Given the description of an element on the screen output the (x, y) to click on. 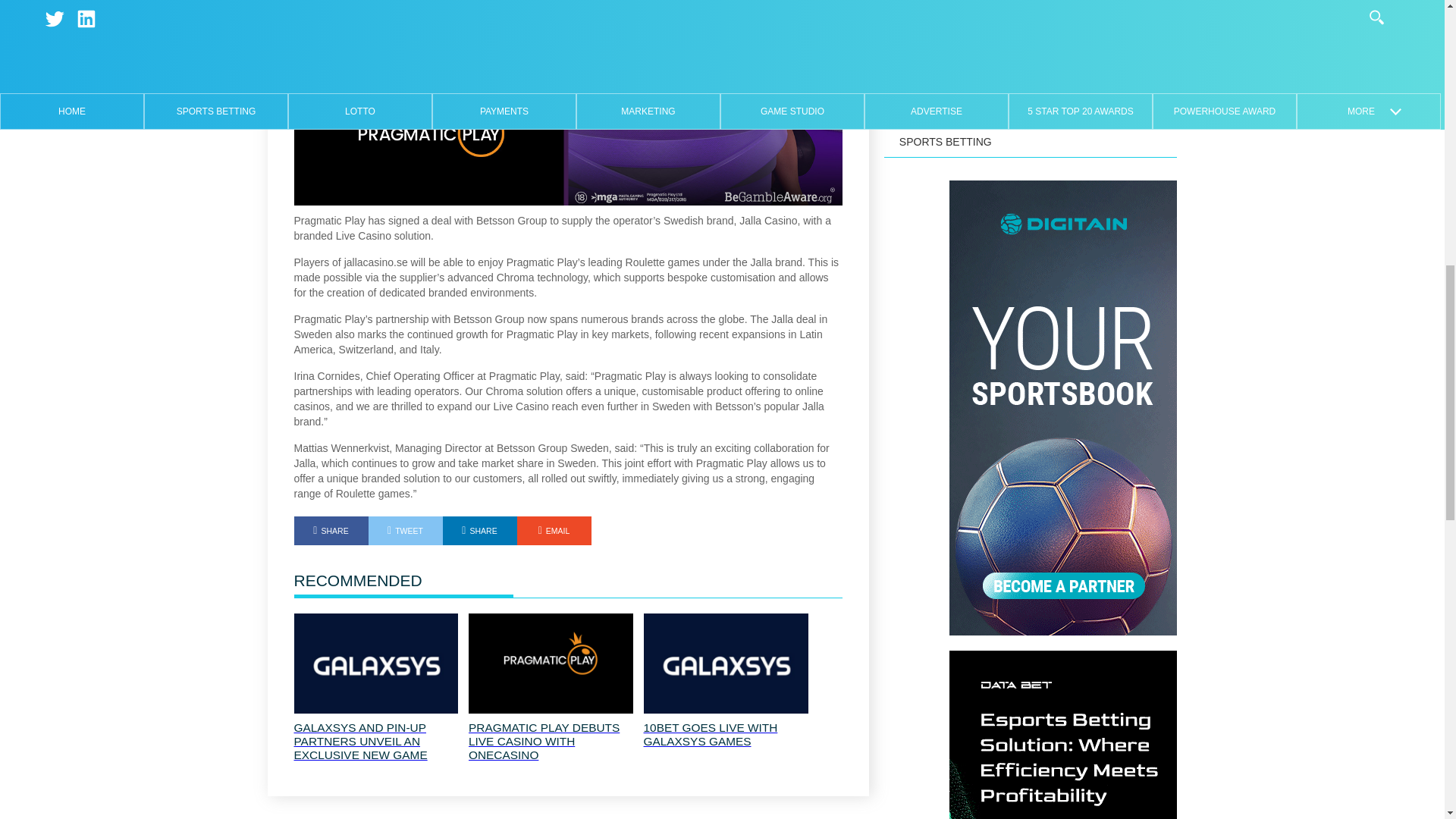
TWEET (405, 530)
GALAXSYS AND PIN-UP PARTNERS UNVEIL AN EXCLUSIVE NEW GAME (376, 741)
PRAGMATIC PLAY DEBUTS LIVE CASINO WITH ONECASINO (550, 741)
SHARE (331, 530)
10BET GOES LIVE WITH GALAXSYS GAMES (725, 734)
Facebook (331, 530)
Linkedin (479, 530)
EMAIL (553, 530)
SHARE (479, 530)
Twitter (405, 530)
Mail (553, 530)
